Given the description of an element on the screen output the (x, y) to click on. 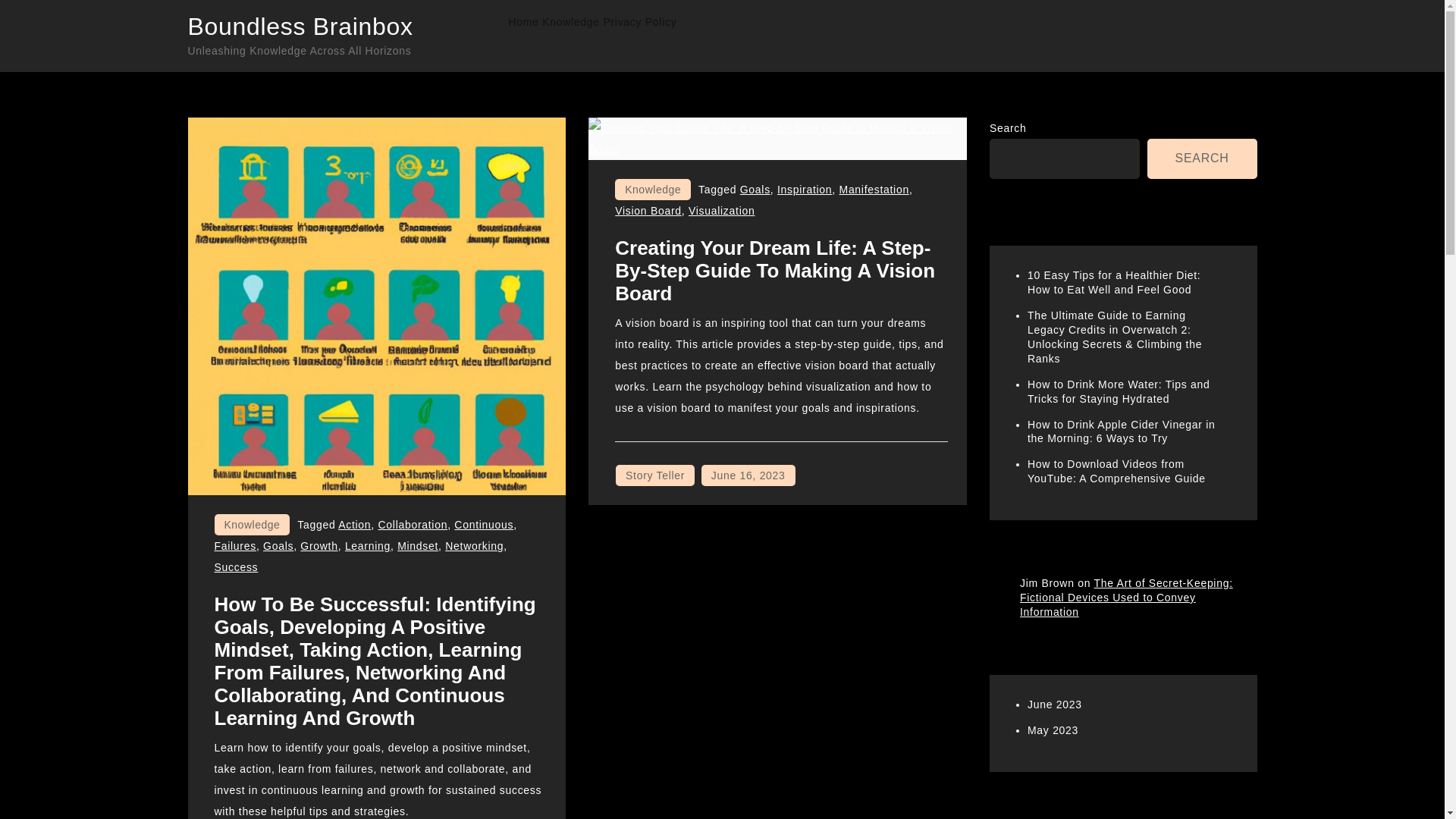
Collaboration (413, 524)
Knowledge (570, 21)
Vision Board (647, 210)
Visualization (721, 210)
Growth (318, 545)
Learning (367, 545)
Boundless Brainbox (300, 26)
Failures (235, 545)
Inspiration (804, 189)
